Given the description of an element on the screen output the (x, y) to click on. 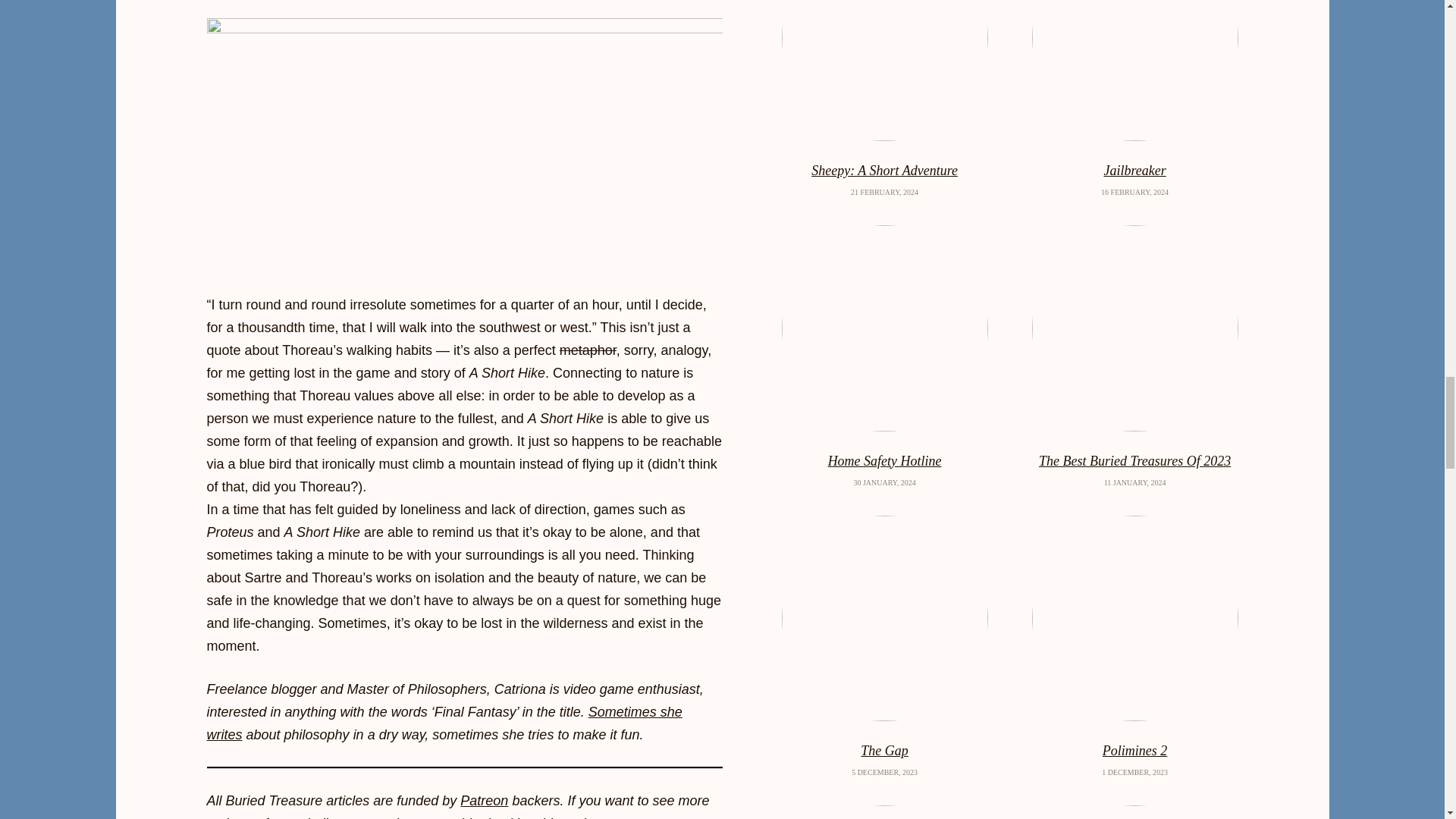
Patreon (484, 800)
Sometimes she writes (443, 723)
backing this project (545, 817)
